Given the description of an element on the screen output the (x, y) to click on. 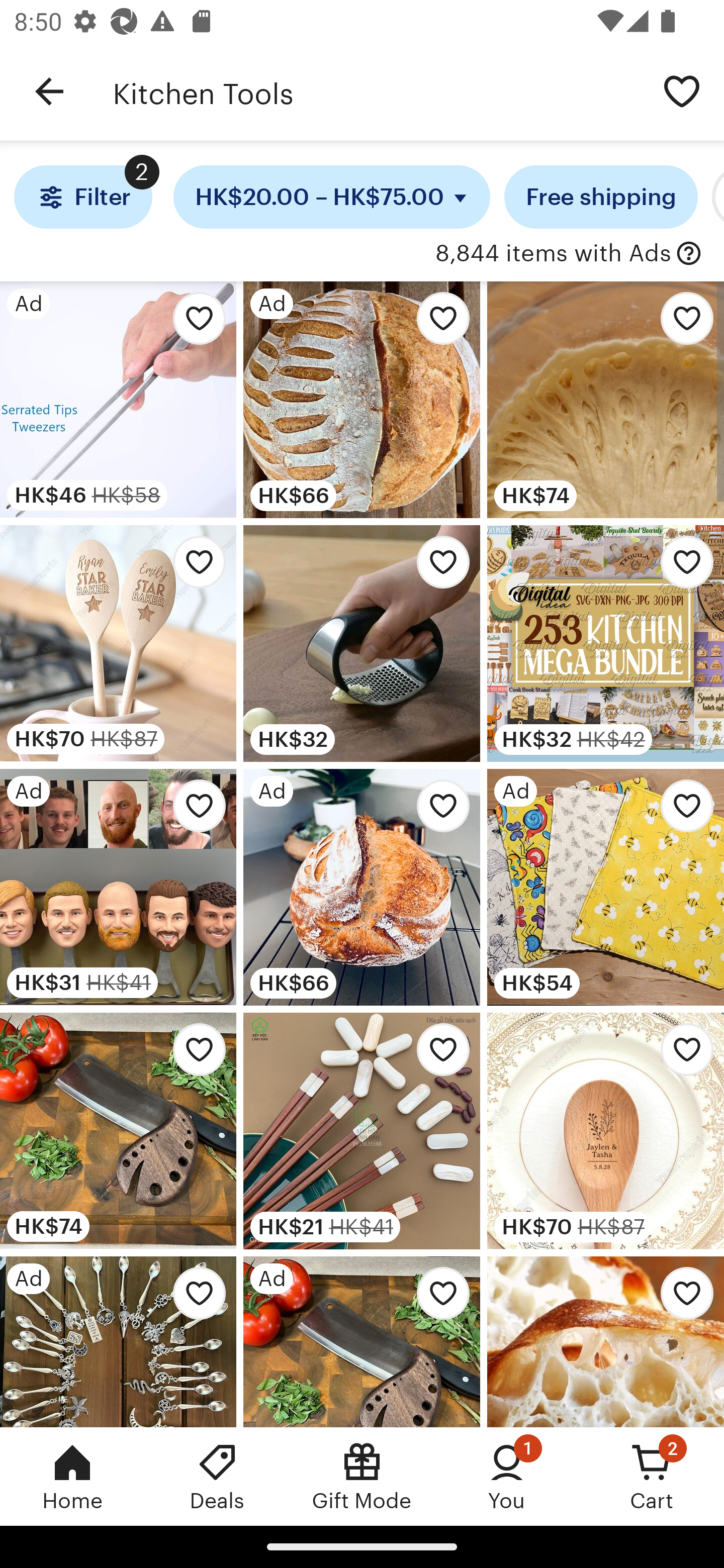
Navigate up (49, 91)
Save search (681, 90)
Kitchen Tools (375, 91)
Filter (82, 197)
HK$20.00 – HK$75.00 (331, 197)
Free shipping (600, 197)
8,844 items with Ads (553, 253)
with Ads (688, 253)
Deals (216, 1475)
Gift Mode (361, 1475)
You, 1 new notification You (506, 1475)
Cart, 2 new notifications Cart (651, 1475)
